Given the description of an element on the screen output the (x, y) to click on. 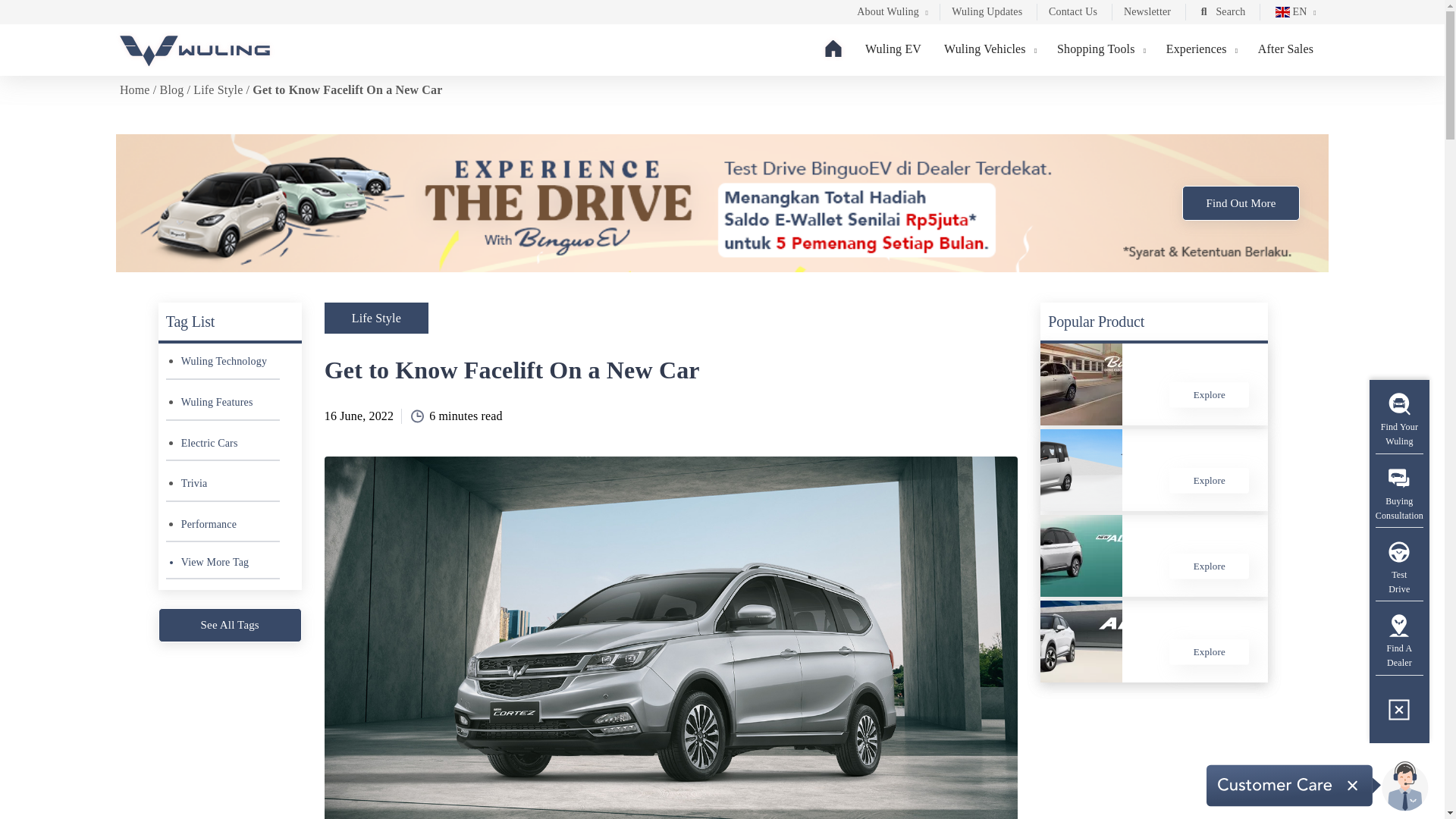
Home (833, 48)
Wuling Motors (194, 51)
About Wuling (890, 14)
Contact Us (1072, 14)
EN (1292, 14)
Wuling EV (892, 49)
Search (1221, 14)
Wuling Vehicles (988, 49)
Newsletter (1147, 14)
Wuling Updates (987, 14)
